Given the description of an element on the screen output the (x, y) to click on. 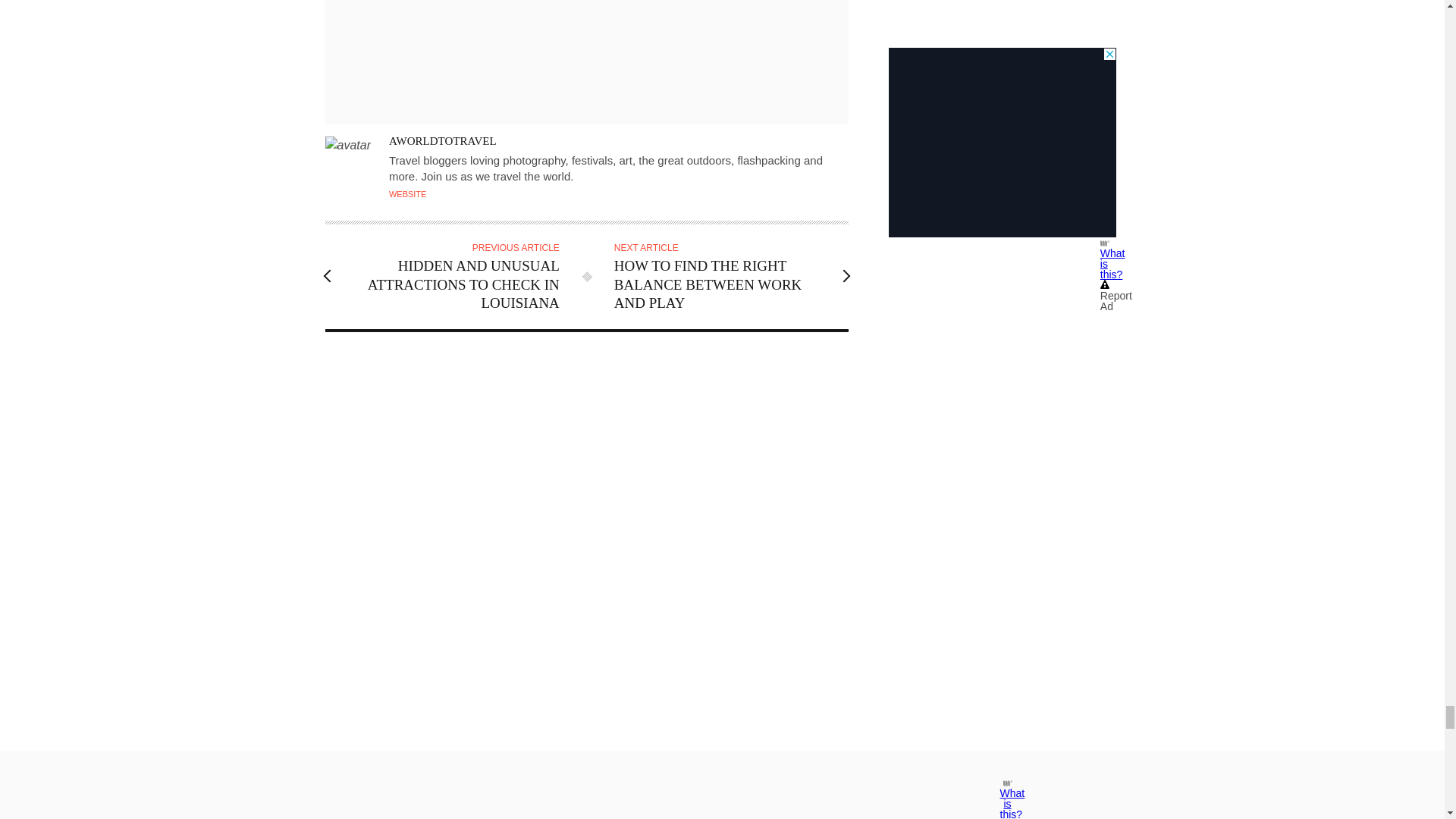
Posts by aworldtotravel (442, 141)
